Given the description of an element on the screen output the (x, y) to click on. 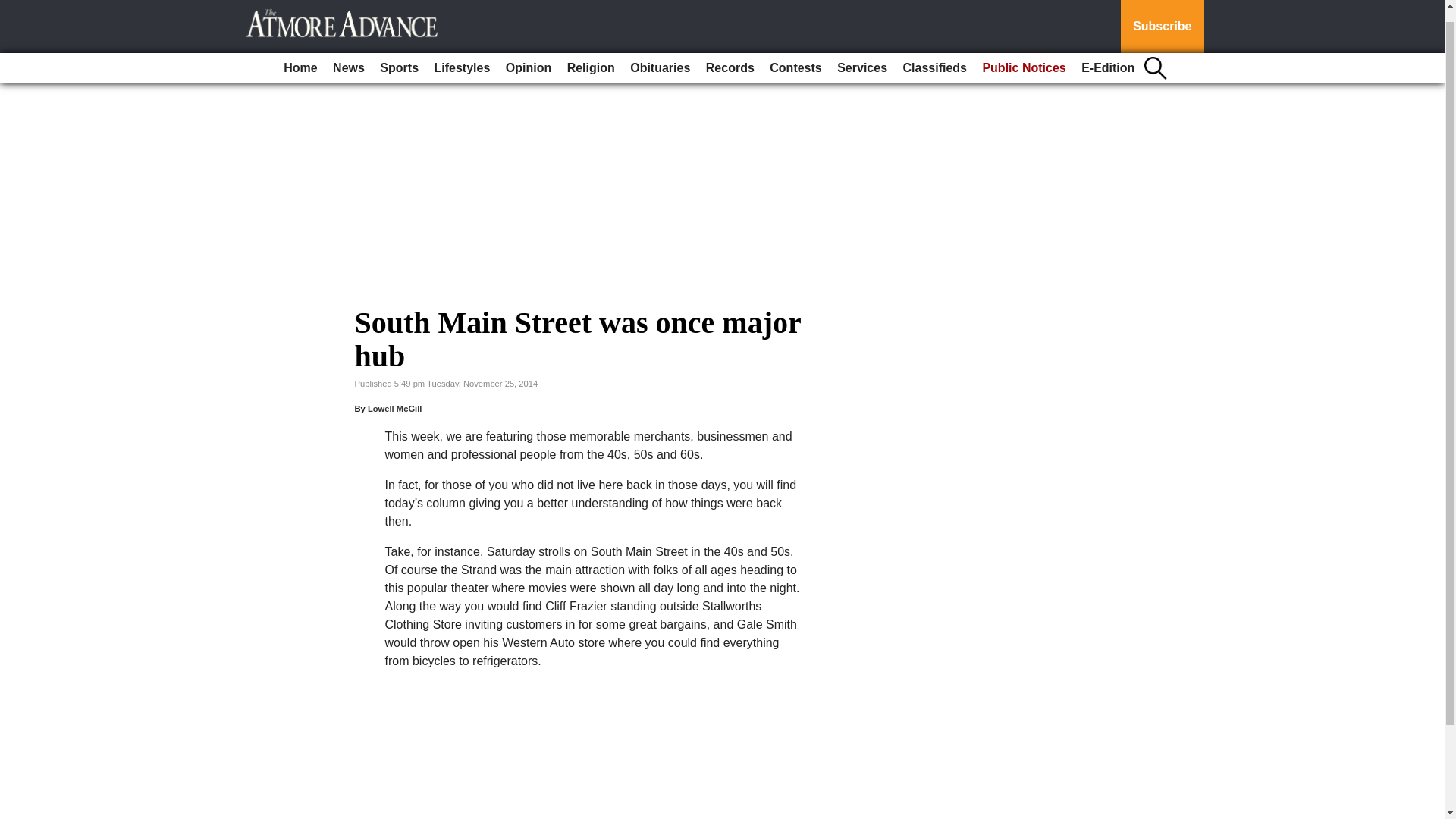
E-Edition (1107, 55)
Lifestyles (462, 55)
Classifieds (934, 55)
Sports (399, 55)
Obituaries (659, 55)
Services (862, 55)
Lowell McGill (395, 408)
Subscribe (1162, 20)
Opinion (528, 55)
Contests (794, 55)
